Given the description of an element on the screen output the (x, y) to click on. 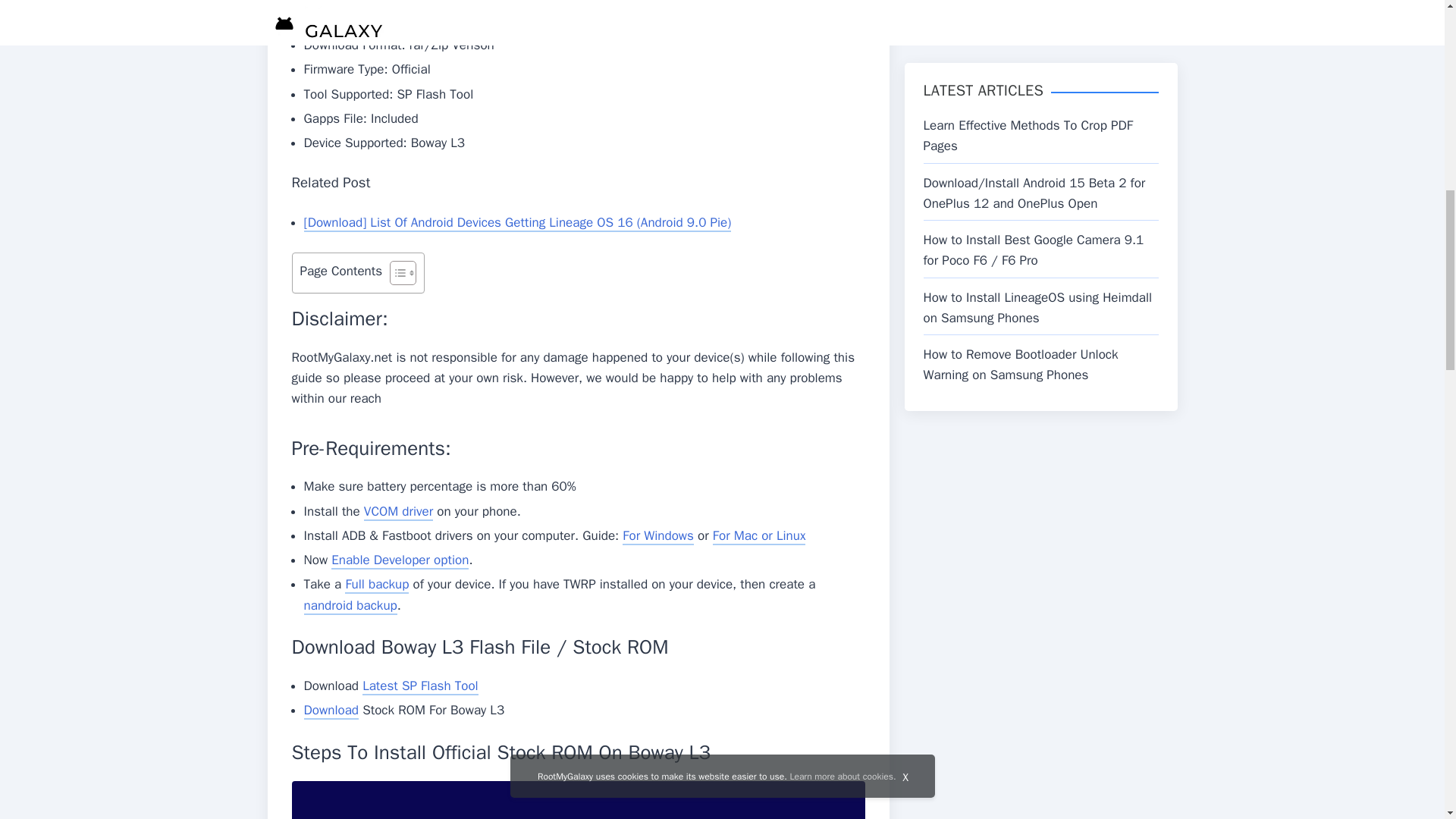
VCOM driver (398, 511)
For Windows (658, 536)
Full backup (377, 584)
nandroid backup (350, 606)
Latest SP Flash Tool (420, 686)
Enable Developer option (399, 560)
For Mac or Linux (759, 536)
